Given the description of an element on the screen output the (x, y) to click on. 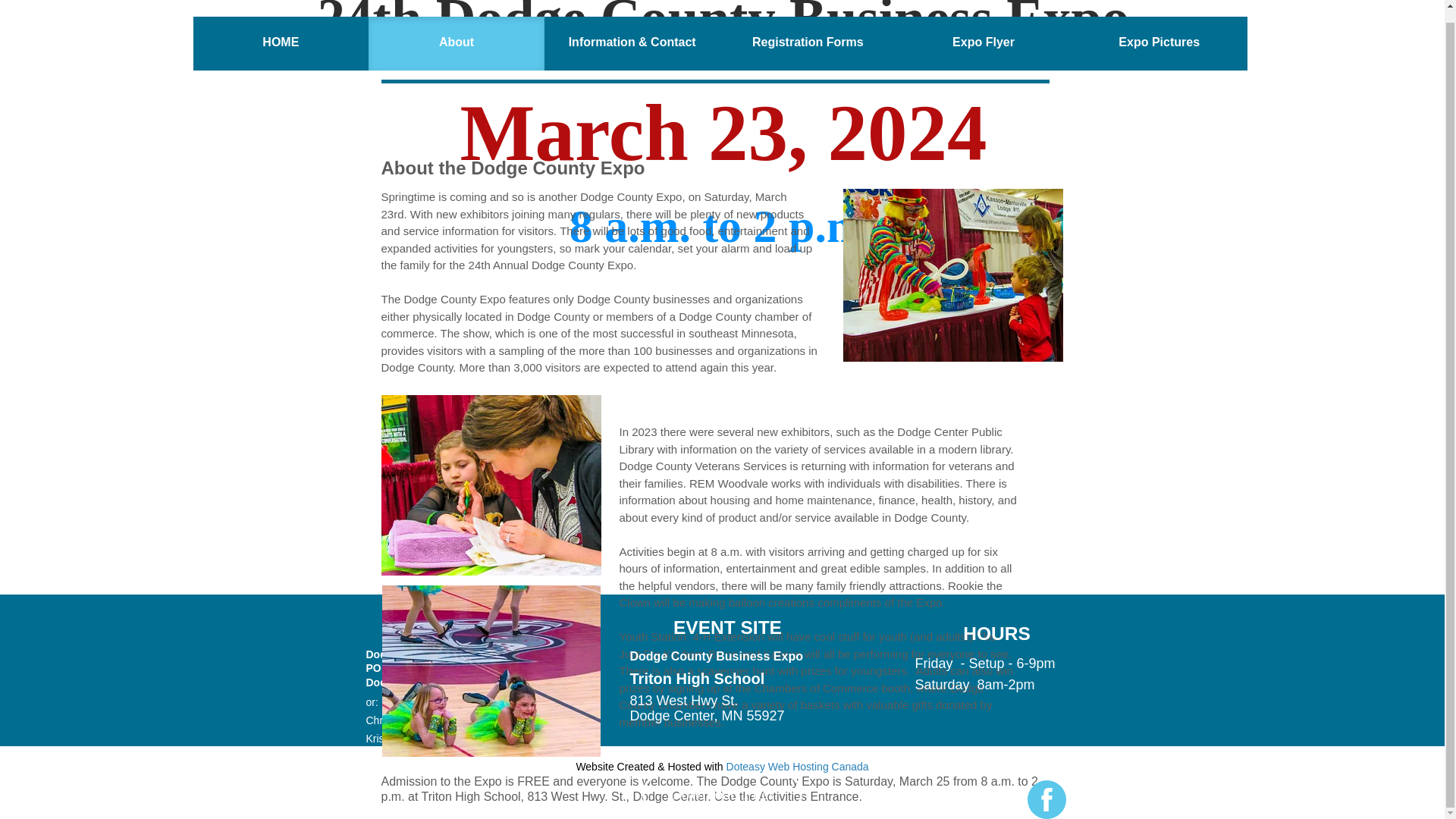
Doteasy Web Hosting Canada (797, 766)
CONTACT US (438, 628)
HOME (280, 43)
Registration Forms (808, 43)
About (456, 43)
Expo Flyer (983, 43)
Download Flier (722, 793)
Expo Pictures (1159, 43)
